Given the description of an element on the screen output the (x, y) to click on. 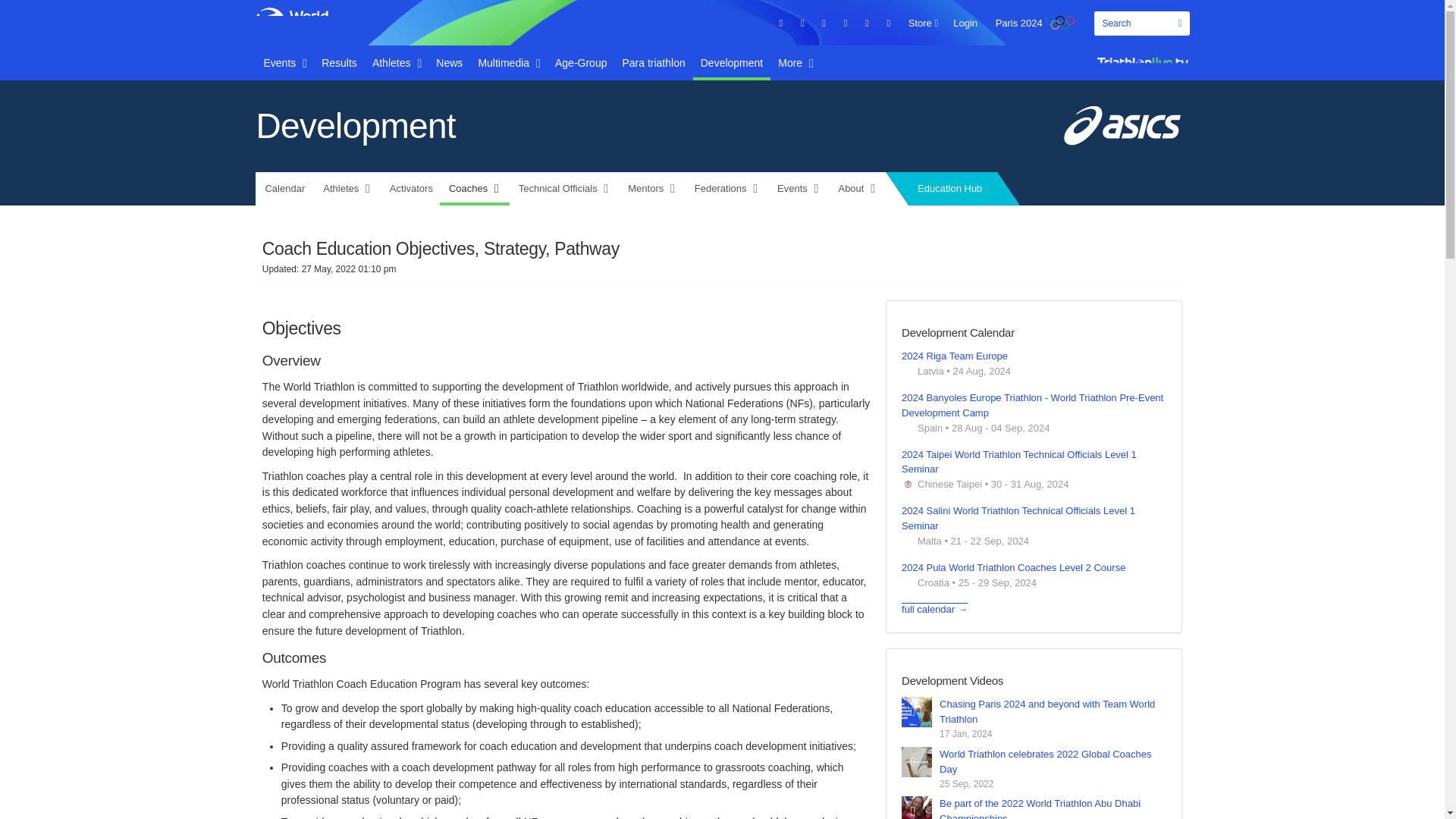
Results (339, 62)
Store (922, 22)
Chinese Taipei flag (907, 483)
Malta flag (907, 541)
Athletes (396, 62)
Events (285, 62)
Spain flag (907, 428)
Latvia flag (907, 370)
Login (964, 22)
World Triathlon (300, 22)
